Given the description of an element on the screen output the (x, y) to click on. 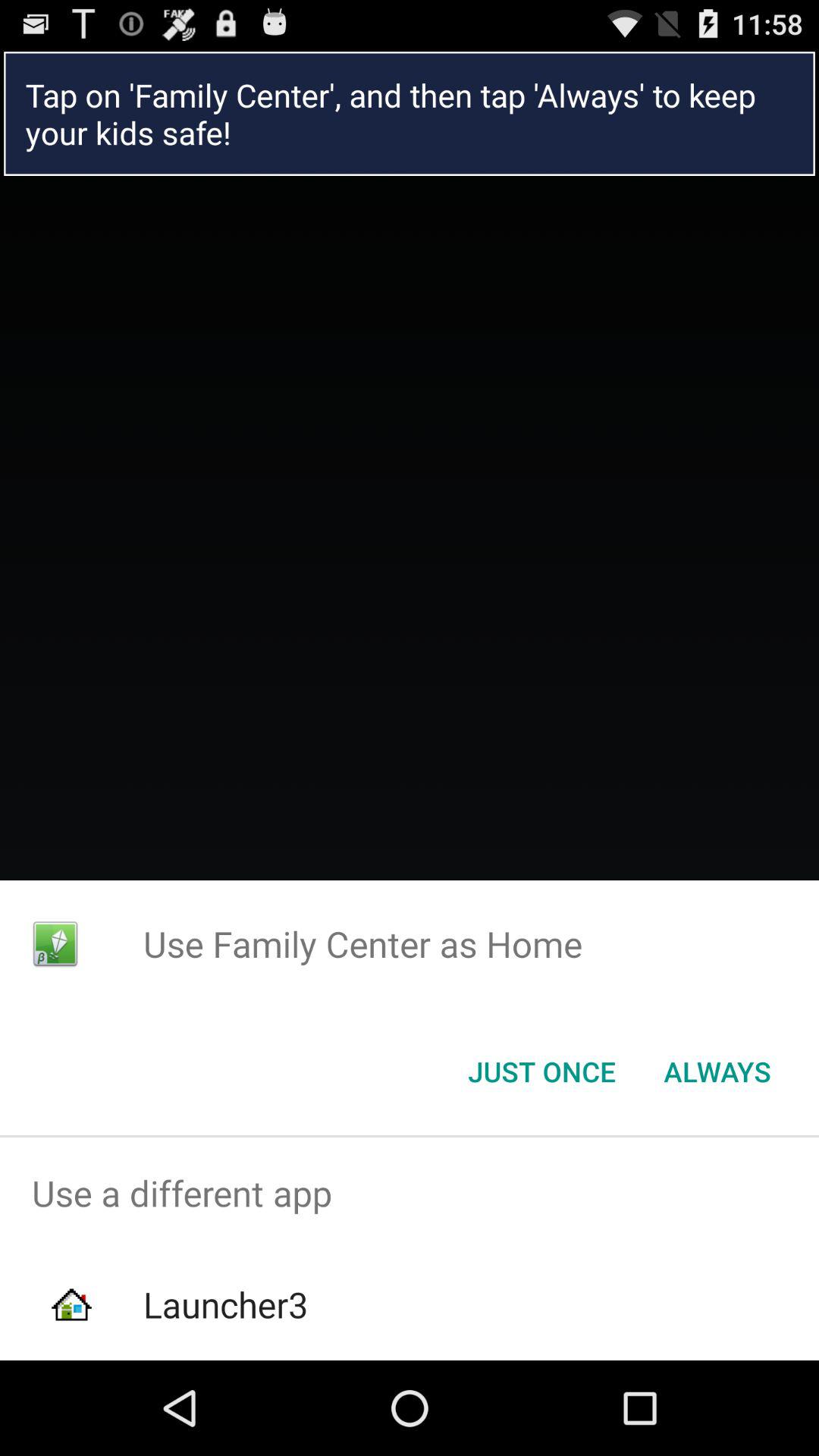
choose the item below use a different app (225, 1304)
